Given the description of an element on the screen output the (x, y) to click on. 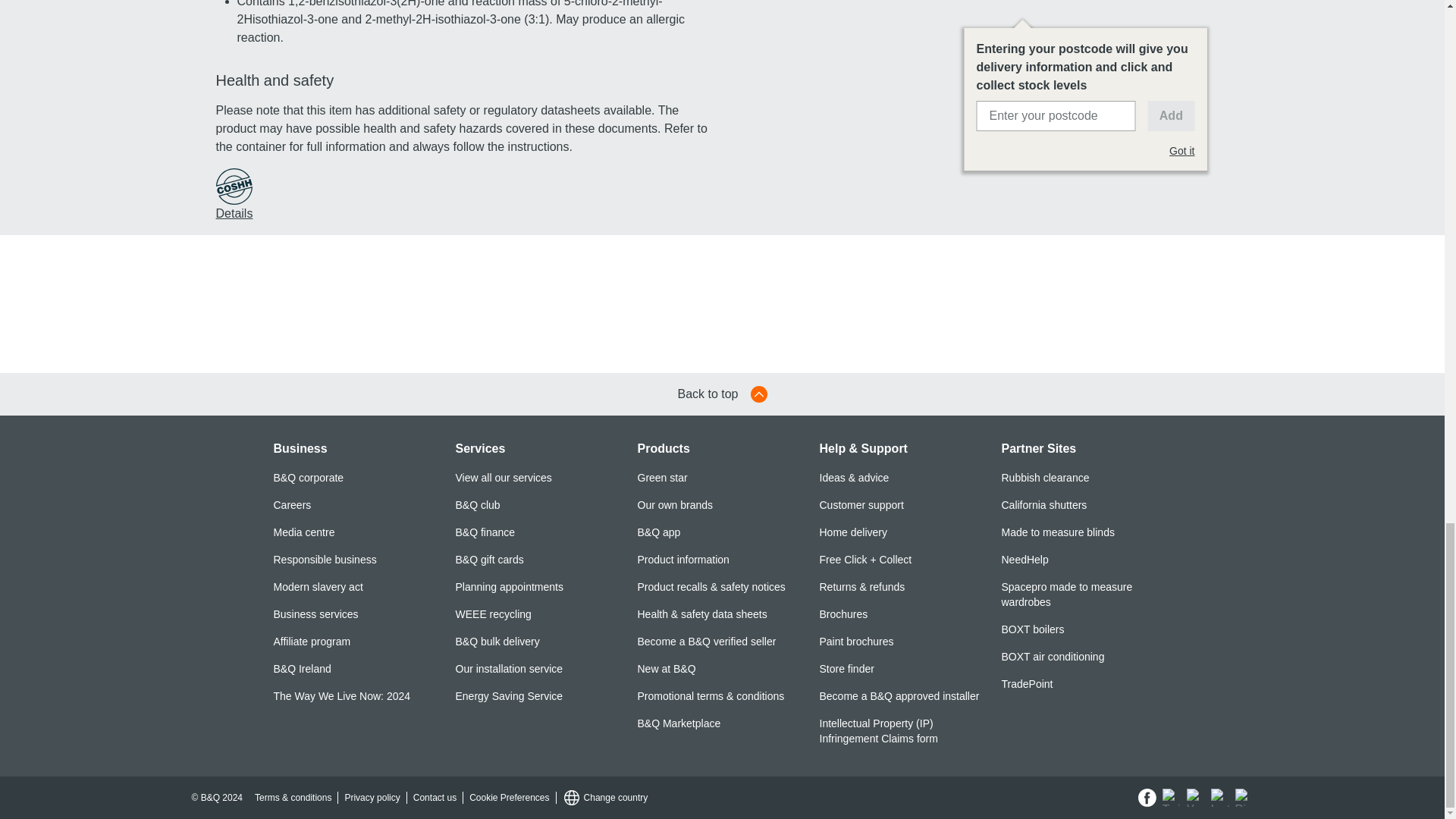
Facebook (1146, 797)
Twitter (1170, 797)
icons.globe (571, 797)
